Given the description of an element on the screen output the (x, y) to click on. 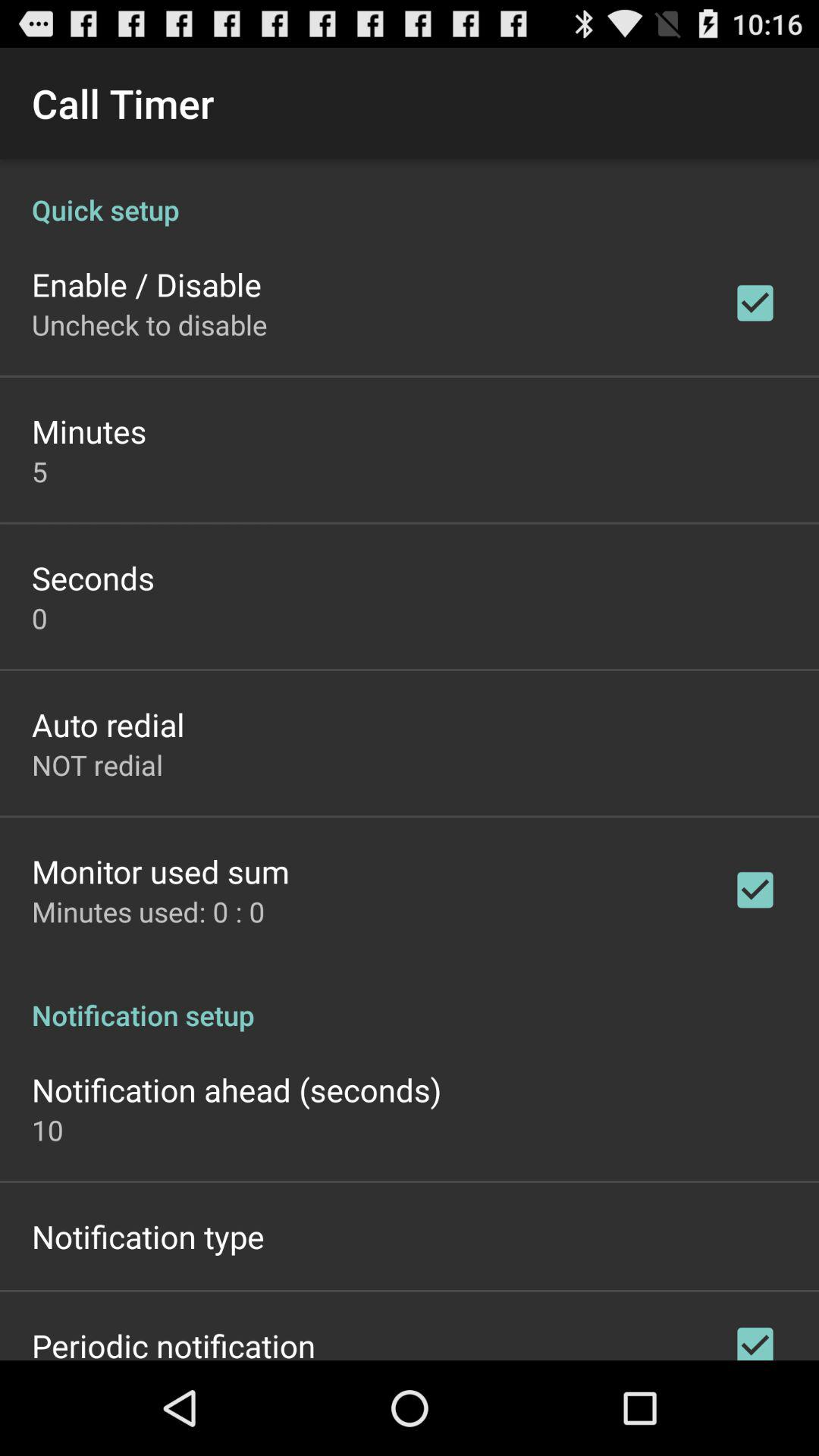
click the app above uncheck to disable (146, 283)
